Given the description of an element on the screen output the (x, y) to click on. 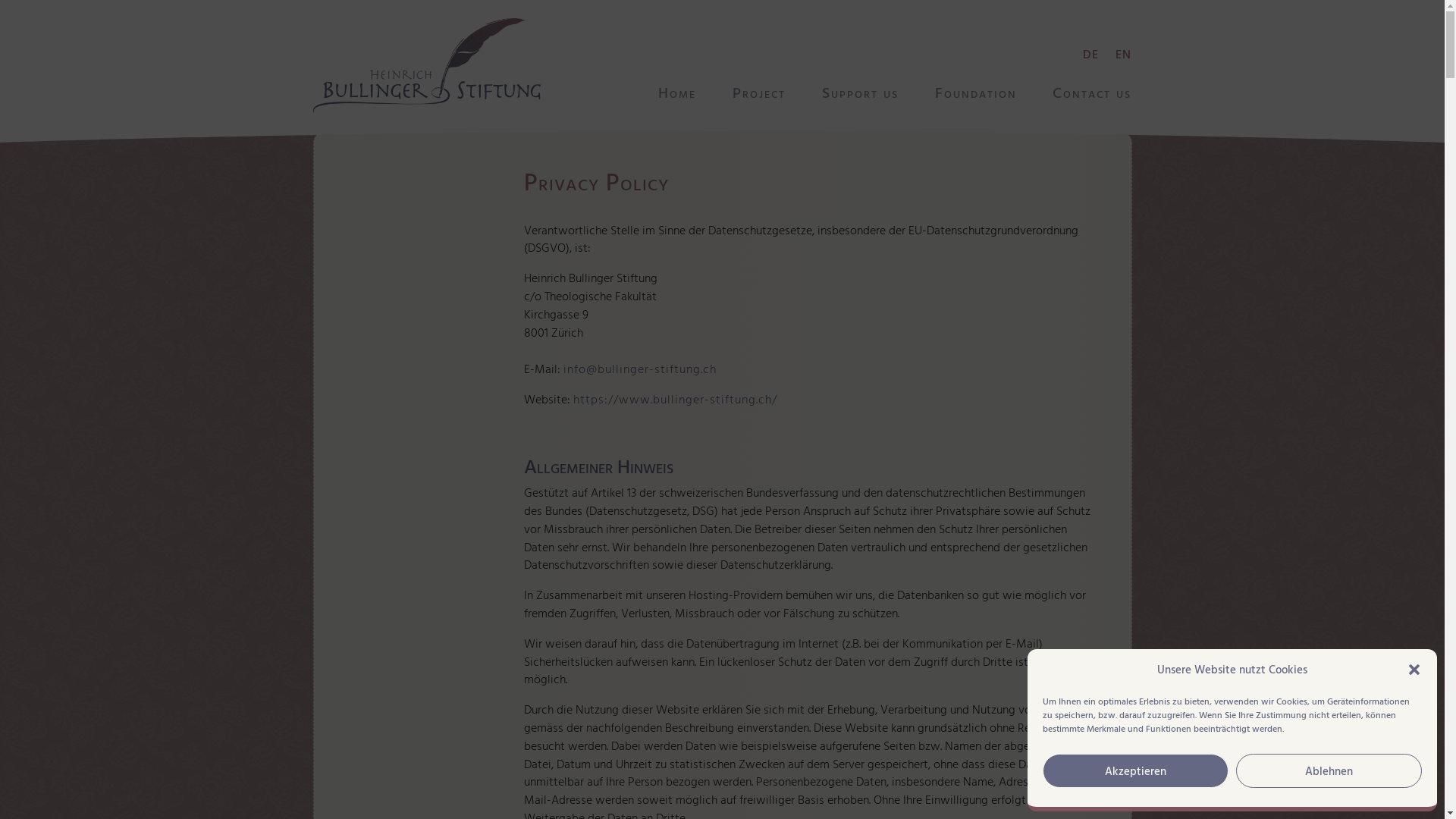
Project Element type: text (758, 94)
https://www.bullinger-stiftung.ch/ Element type: text (675, 398)
DE Element type: text (1090, 56)
Support us Element type: text (860, 94)
Home Element type: text (677, 94)
Contact us Element type: text (1091, 94)
Ablehnen Element type: text (1328, 770)
Foundation Element type: text (975, 94)
Akzeptieren Element type: text (1135, 770)
info@bullinger-stiftung.ch Element type: text (639, 368)
EN Element type: text (1123, 56)
